Given the description of an element on the screen output the (x, y) to click on. 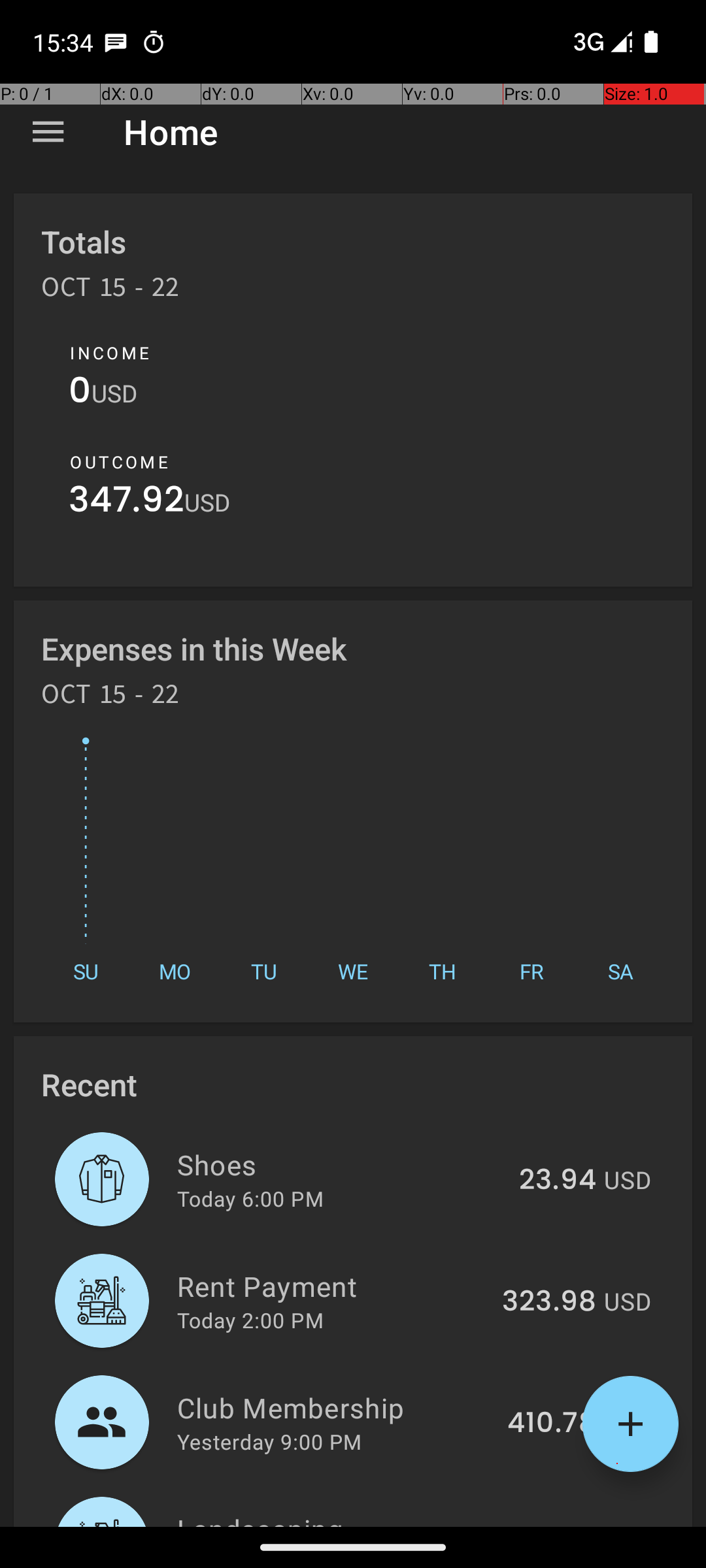
347.92 Element type: android.widget.TextView (126, 502)
Shoes Element type: android.widget.TextView (340, 1164)
23.94 Element type: android.widget.TextView (557, 1180)
Rent Payment Element type: android.widget.TextView (331, 1285)
323.98 Element type: android.widget.TextView (548, 1301)
Club Membership Element type: android.widget.TextView (334, 1407)
Yesterday 9:00 PM Element type: android.widget.TextView (269, 1441)
410.78 Element type: android.widget.TextView (551, 1423)
Landscaping Element type: android.widget.TextView (334, 1518)
462.18 Element type: android.widget.TextView (551, 1524)
SMS Messenger notification: Sophie Gonzalez Element type: android.widget.ImageView (115, 41)
